Given the description of an element on the screen output the (x, y) to click on. 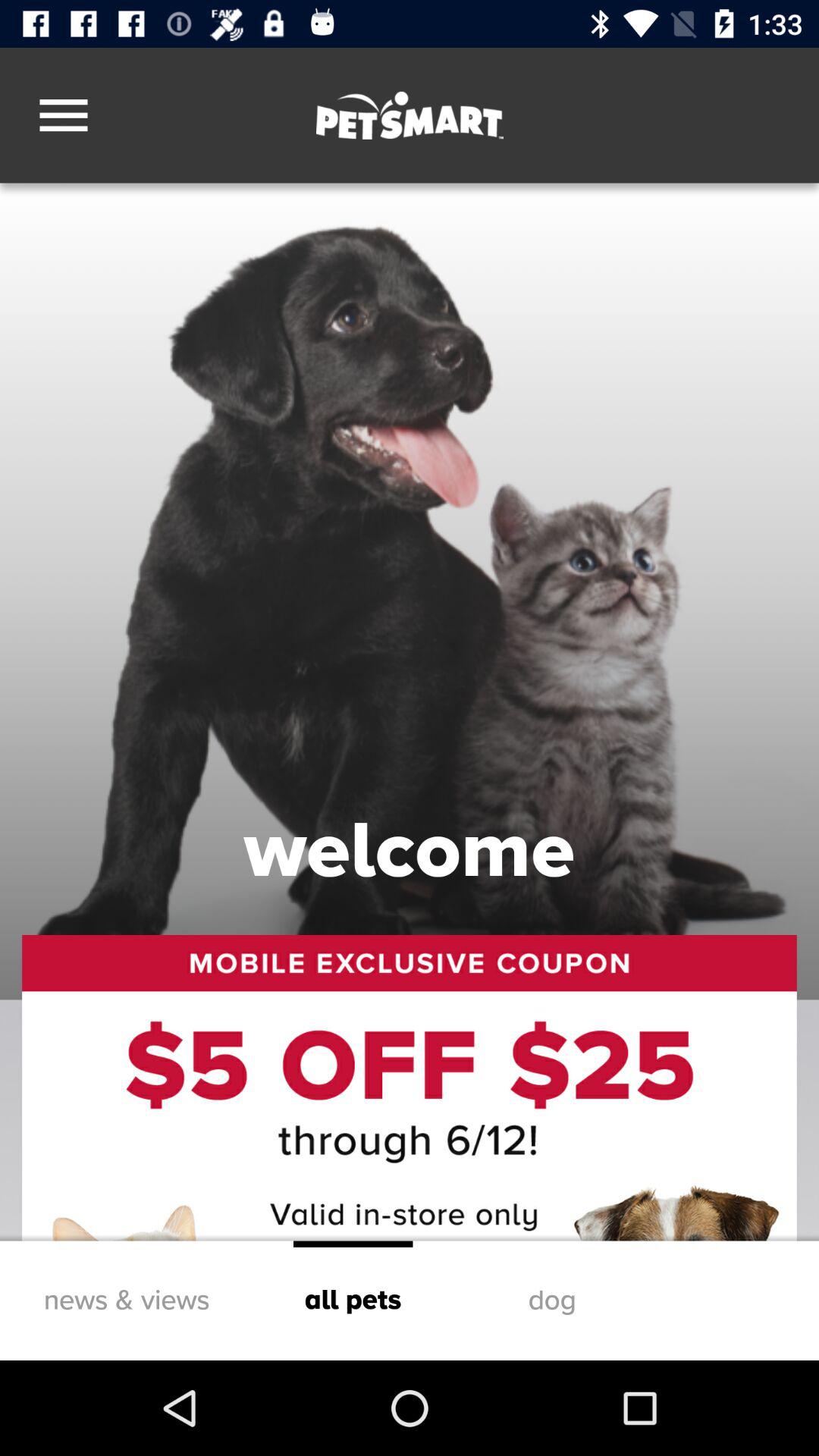
select the all pets item (352, 1300)
